Given the description of an element on the screen output the (x, y) to click on. 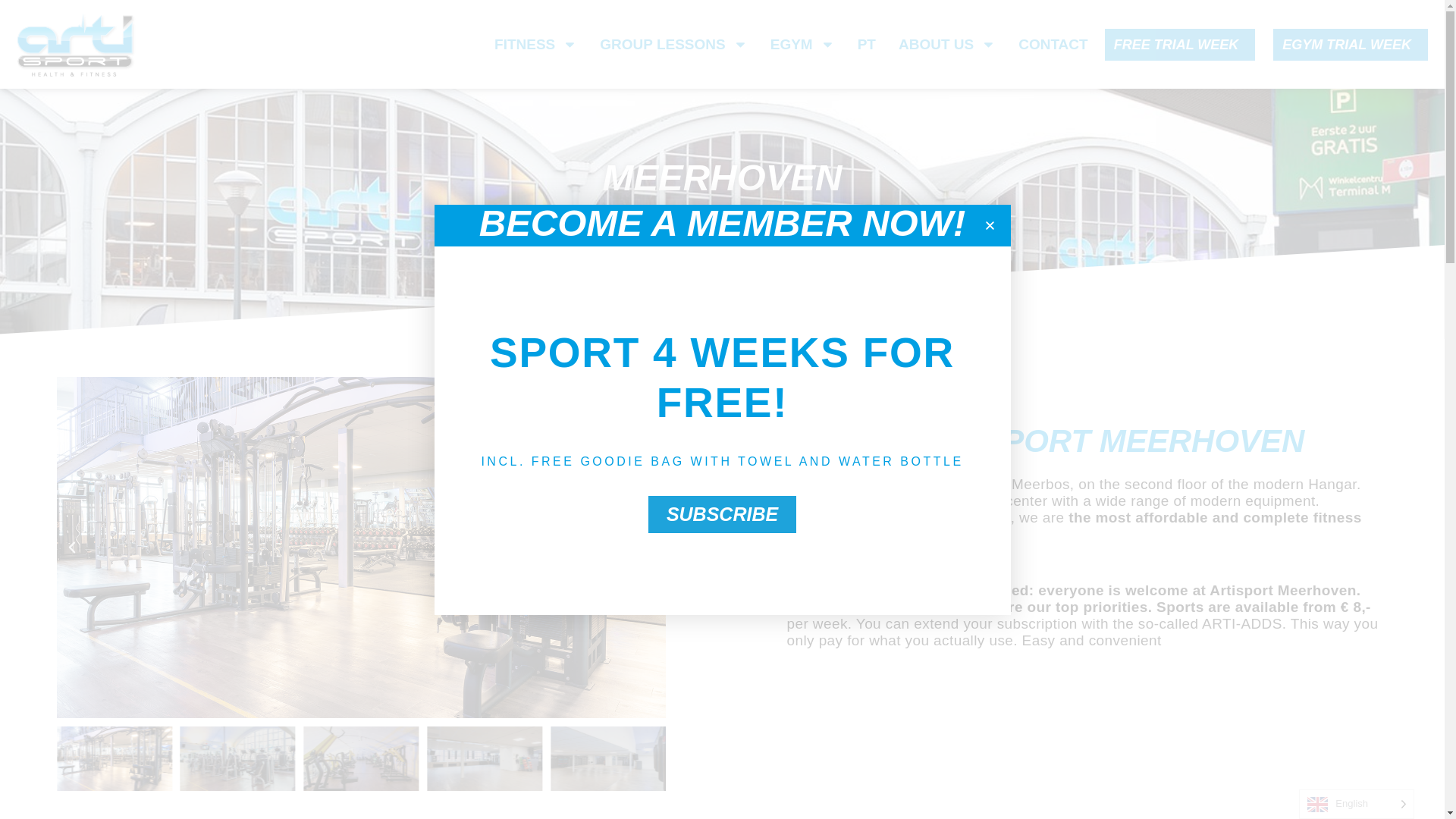
CONTACT (1052, 44)
EGYM (802, 44)
GROUP LESSONS (672, 44)
ABOUT US (946, 44)
FITNESS (535, 44)
